Given the description of an element on the screen output the (x, y) to click on. 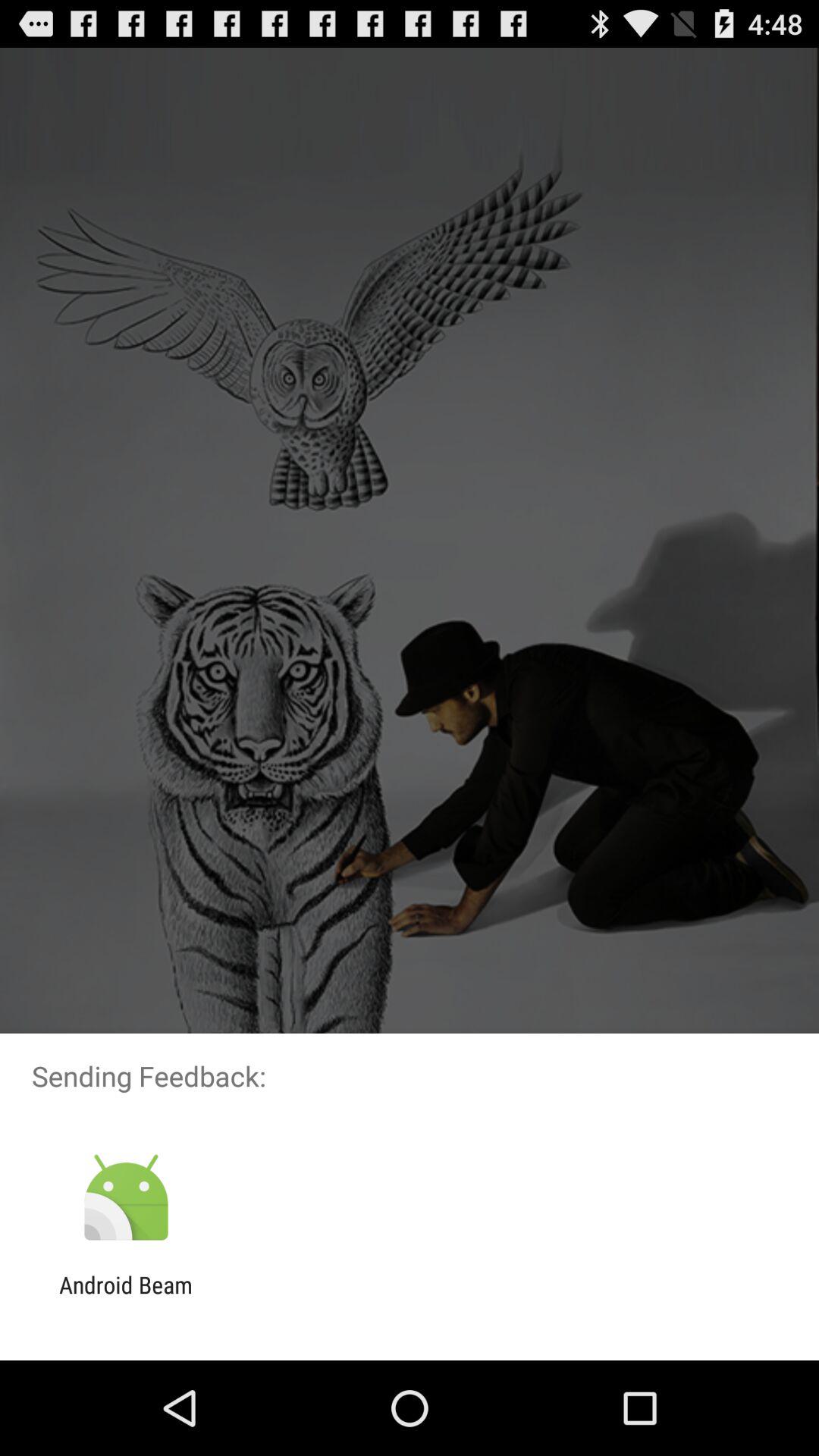
open android beam app (125, 1298)
